Given the description of an element on the screen output the (x, y) to click on. 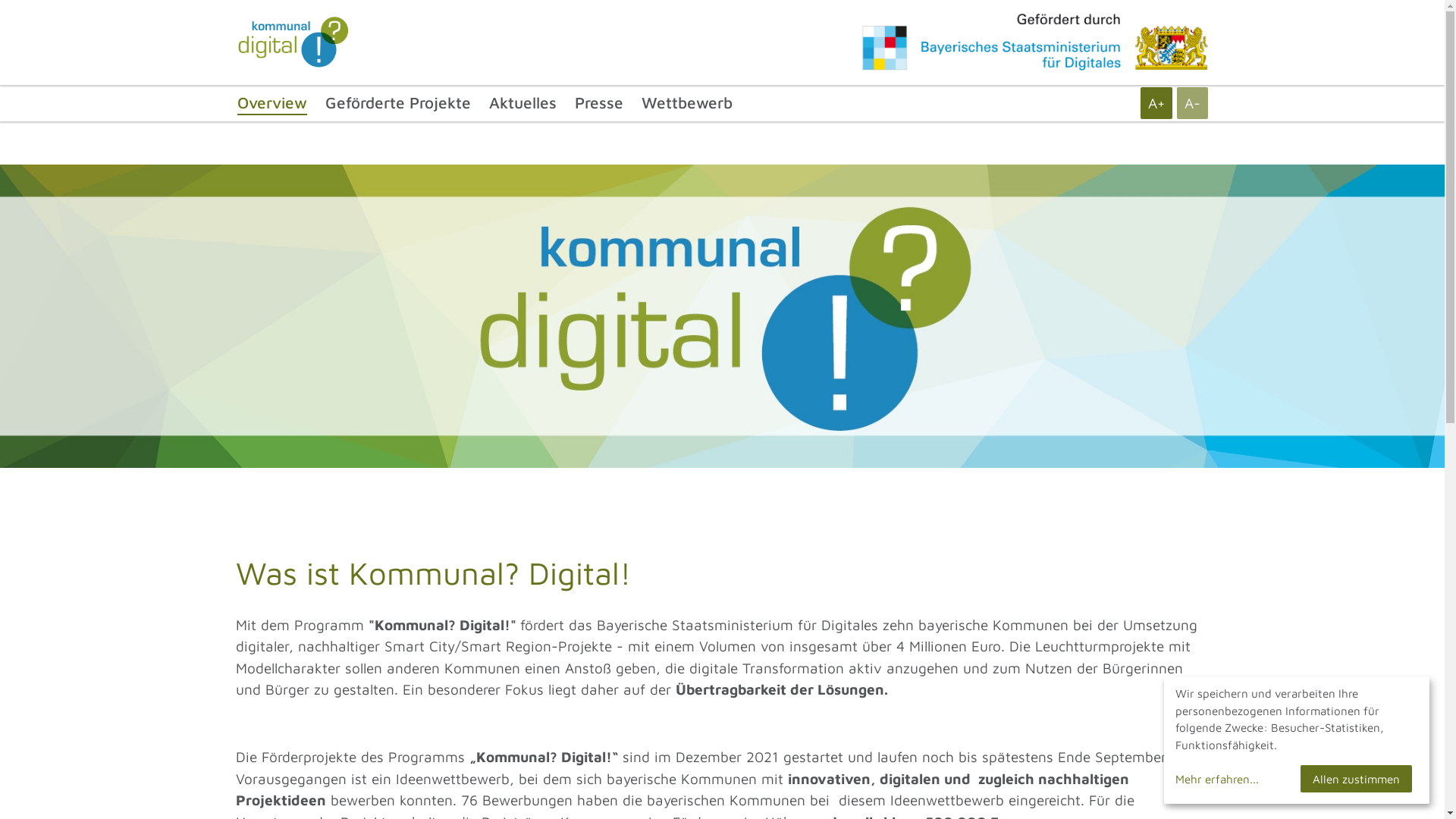
Allen zustimmen Element type: text (1356, 778)
A+ Element type: text (1156, 103)
A- Element type: text (1192, 103)
Aktuelles Element type: text (521, 102)
Mehr erfahren... Element type: text (1234, 778)
Wettbewerb Element type: text (686, 102)
Presse Element type: text (598, 102)
